Given the description of an element on the screen output the (x, y) to click on. 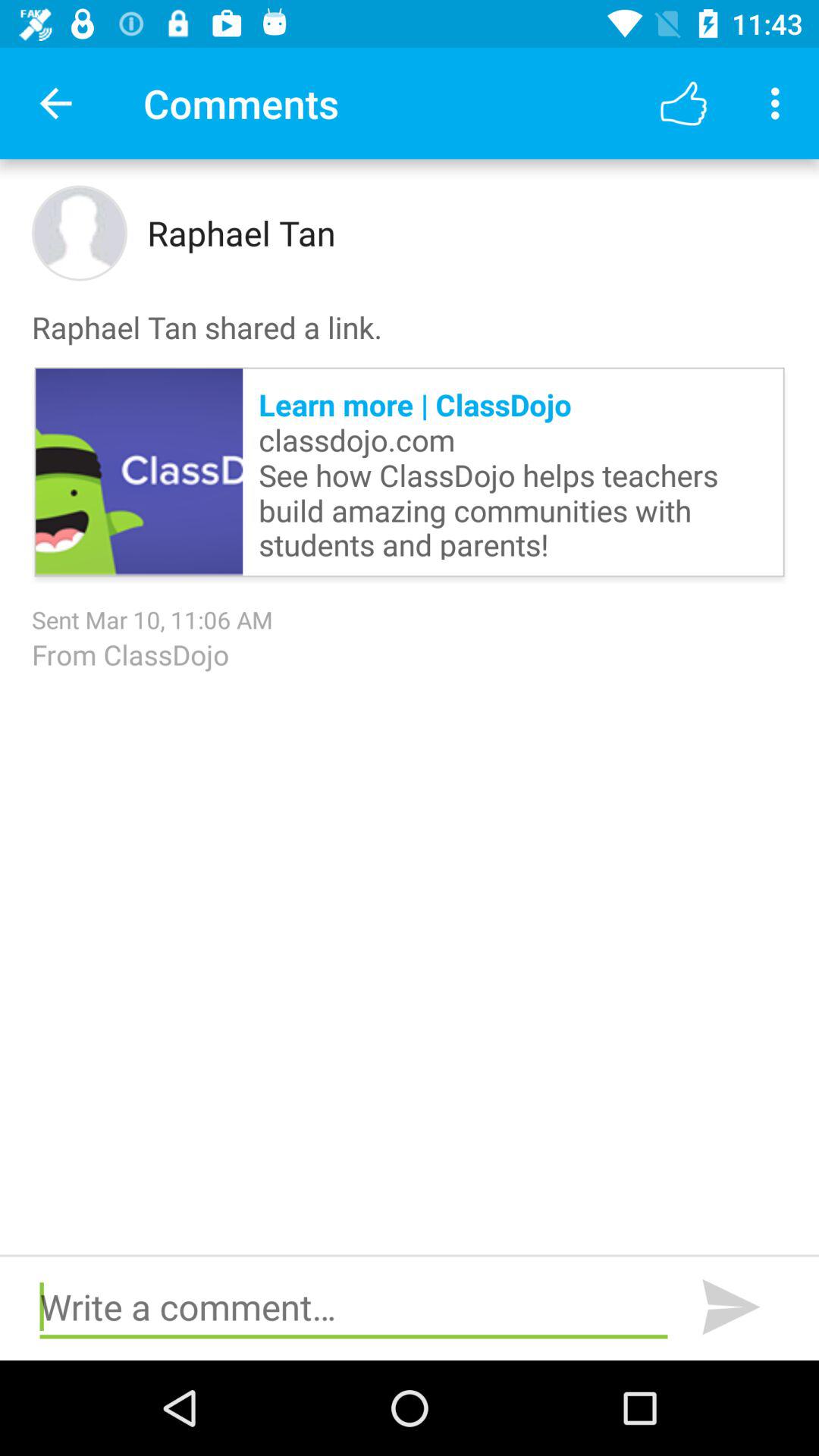
turn on item above the raphael tan shared icon (779, 103)
